Given the description of an element on the screen output the (x, y) to click on. 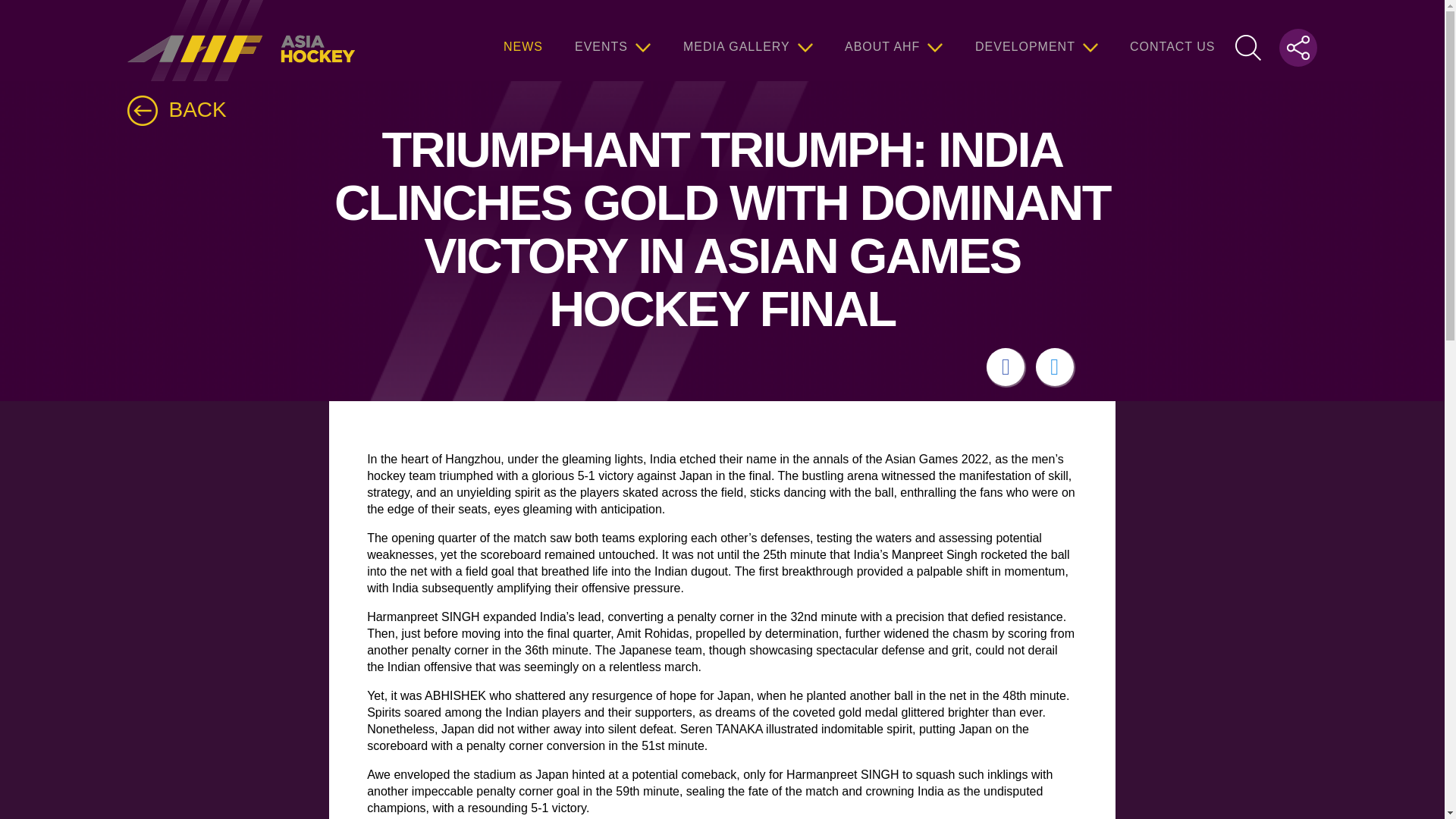
CONTACT US (1172, 40)
EVENTS (612, 40)
ABOUT AHF (892, 40)
MEDIA GALLERY (747, 40)
DEVELOPMENT (1036, 40)
NEWS (523, 40)
